Given the description of an element on the screen output the (x, y) to click on. 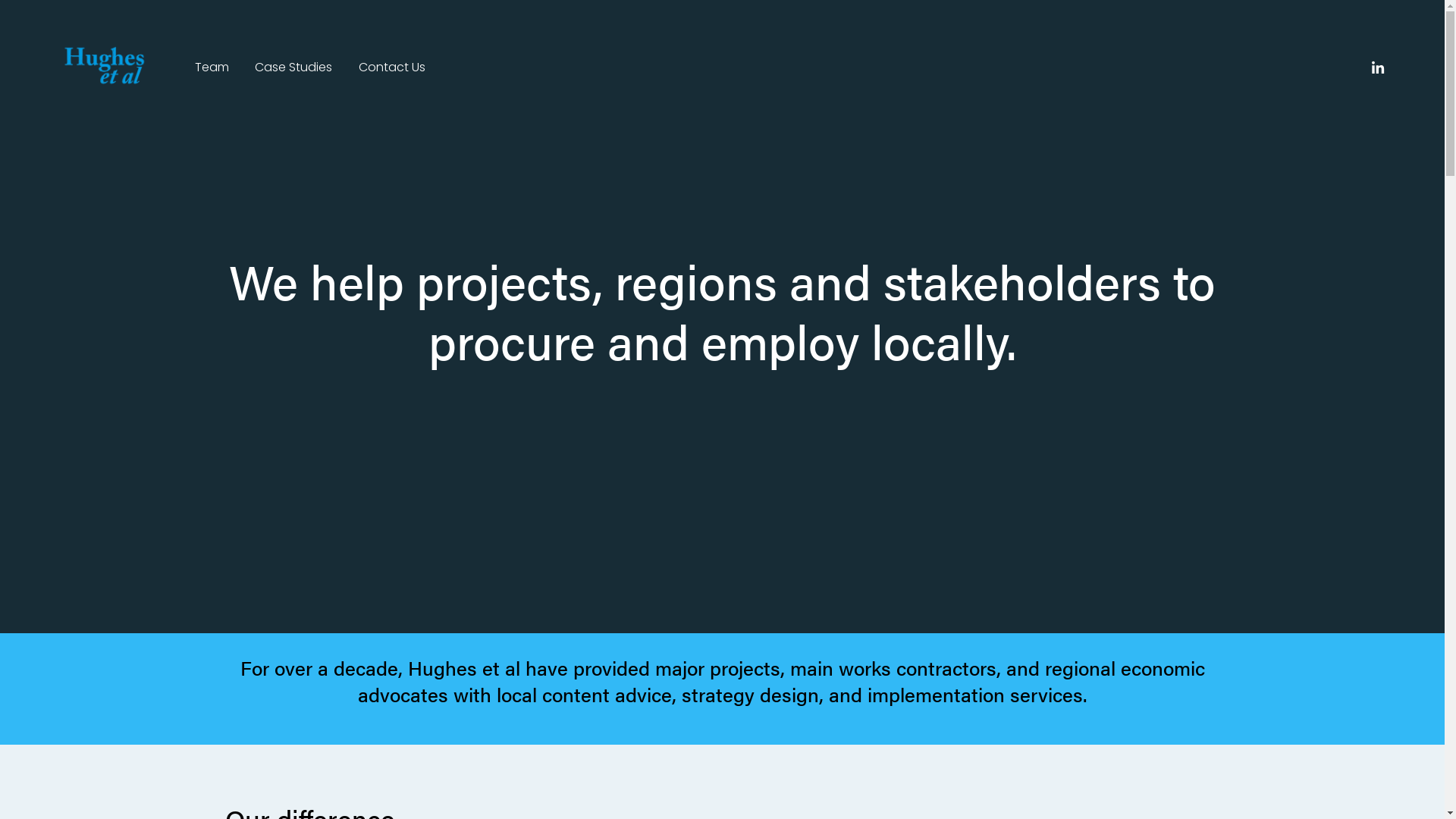
Contact Us Element type: text (391, 68)
Case Studies Element type: text (293, 68)
Team Element type: text (211, 68)
